Given the description of an element on the screen output the (x, y) to click on. 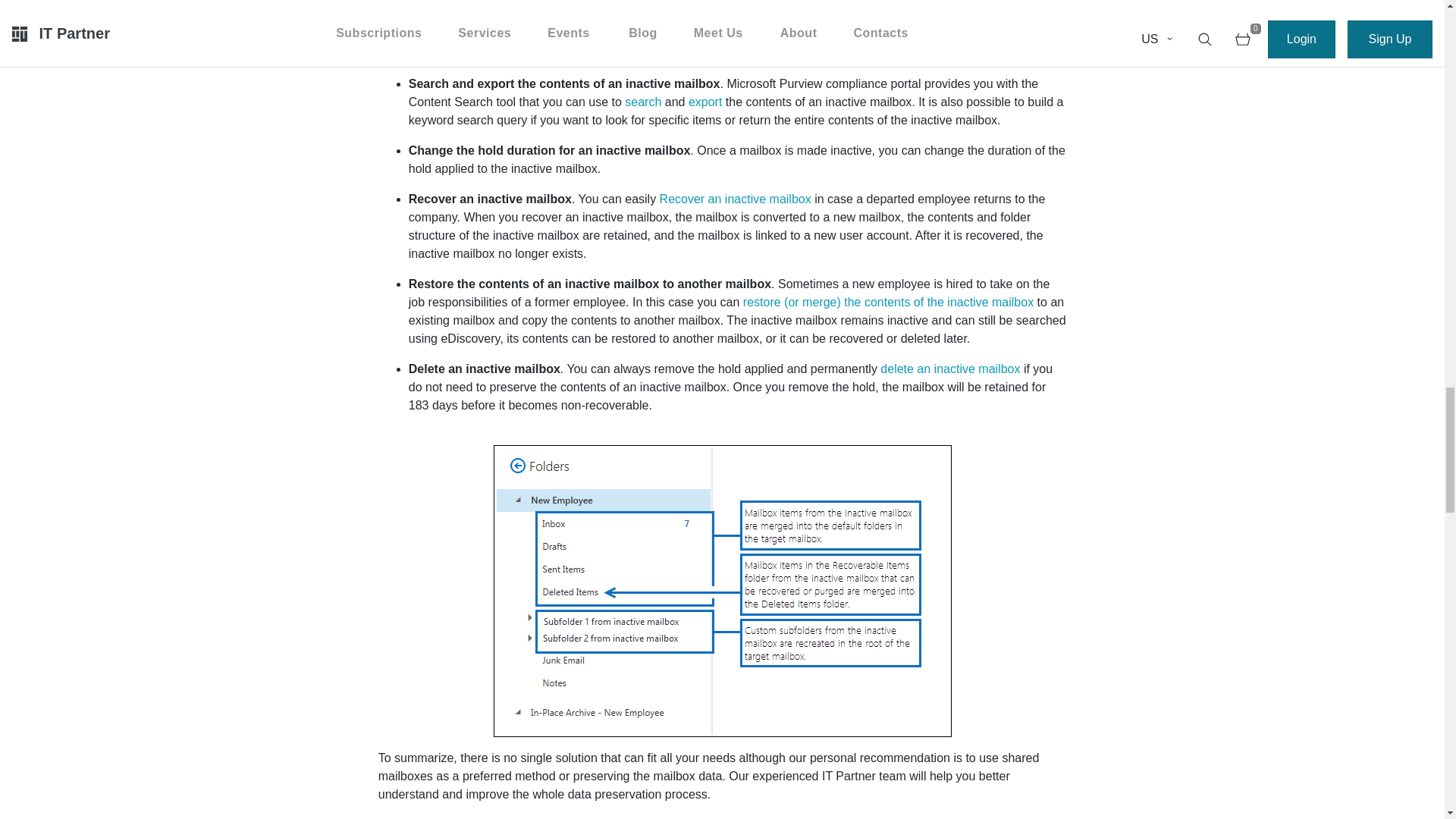
export (705, 101)
Recover an inactive mailbox (734, 198)
delete an inactive mailbox (950, 368)
search (642, 101)
